Given the description of an element on the screen output the (x, y) to click on. 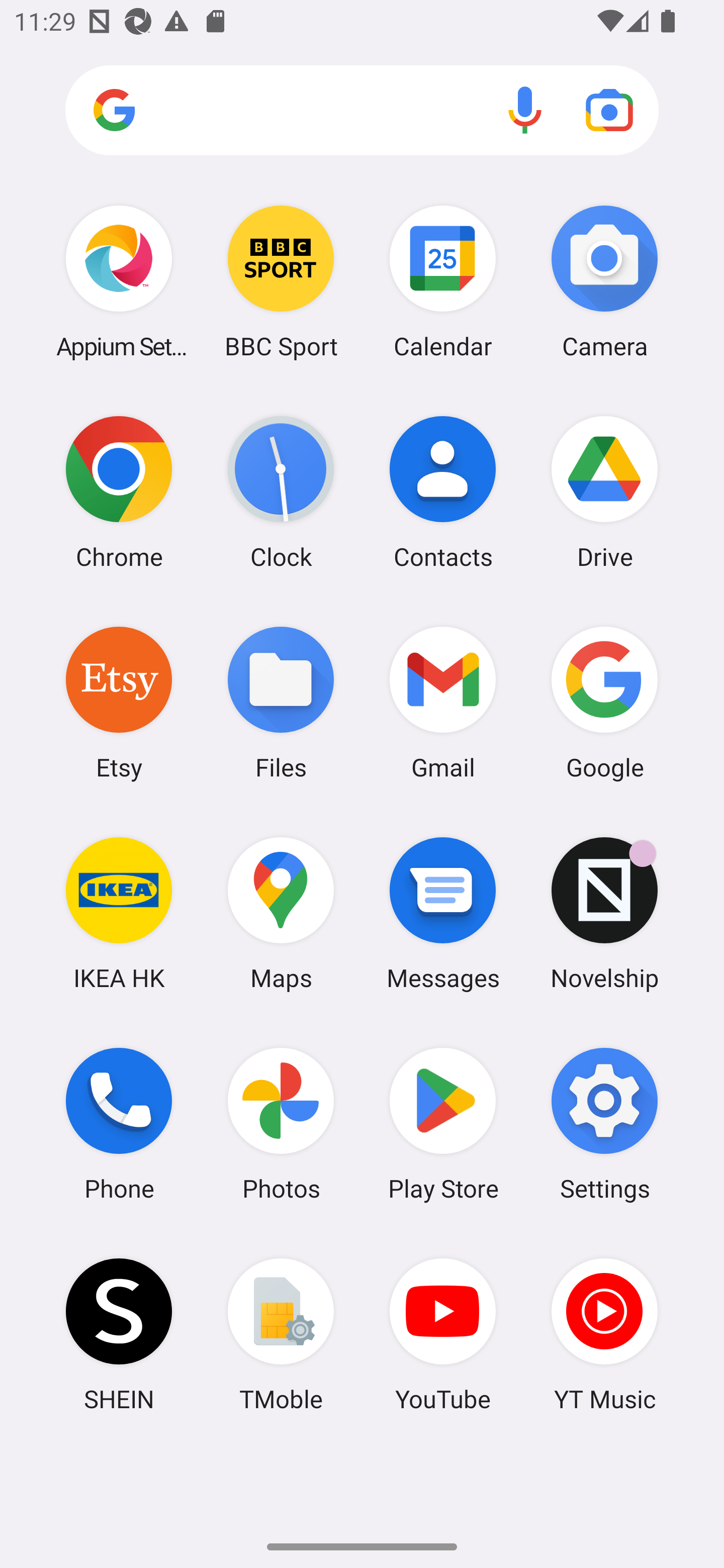
Search apps, web and more (361, 110)
Voice search (524, 109)
Google Lens (608, 109)
Appium Settings (118, 281)
BBC Sport (280, 281)
Calendar (443, 281)
Camera (604, 281)
Chrome (118, 492)
Clock (280, 492)
Contacts (443, 492)
Drive (604, 492)
Etsy (118, 702)
Files (280, 702)
Gmail (443, 702)
Google (604, 702)
IKEA HK (118, 913)
Maps (280, 913)
Messages (443, 913)
Novelship Novelship has 5 notifications (604, 913)
Phone (118, 1124)
Photos (280, 1124)
Play Store (443, 1124)
Settings (604, 1124)
SHEIN (118, 1334)
TMoble (280, 1334)
YouTube (443, 1334)
YT Music (604, 1334)
